Given the description of an element on the screen output the (x, y) to click on. 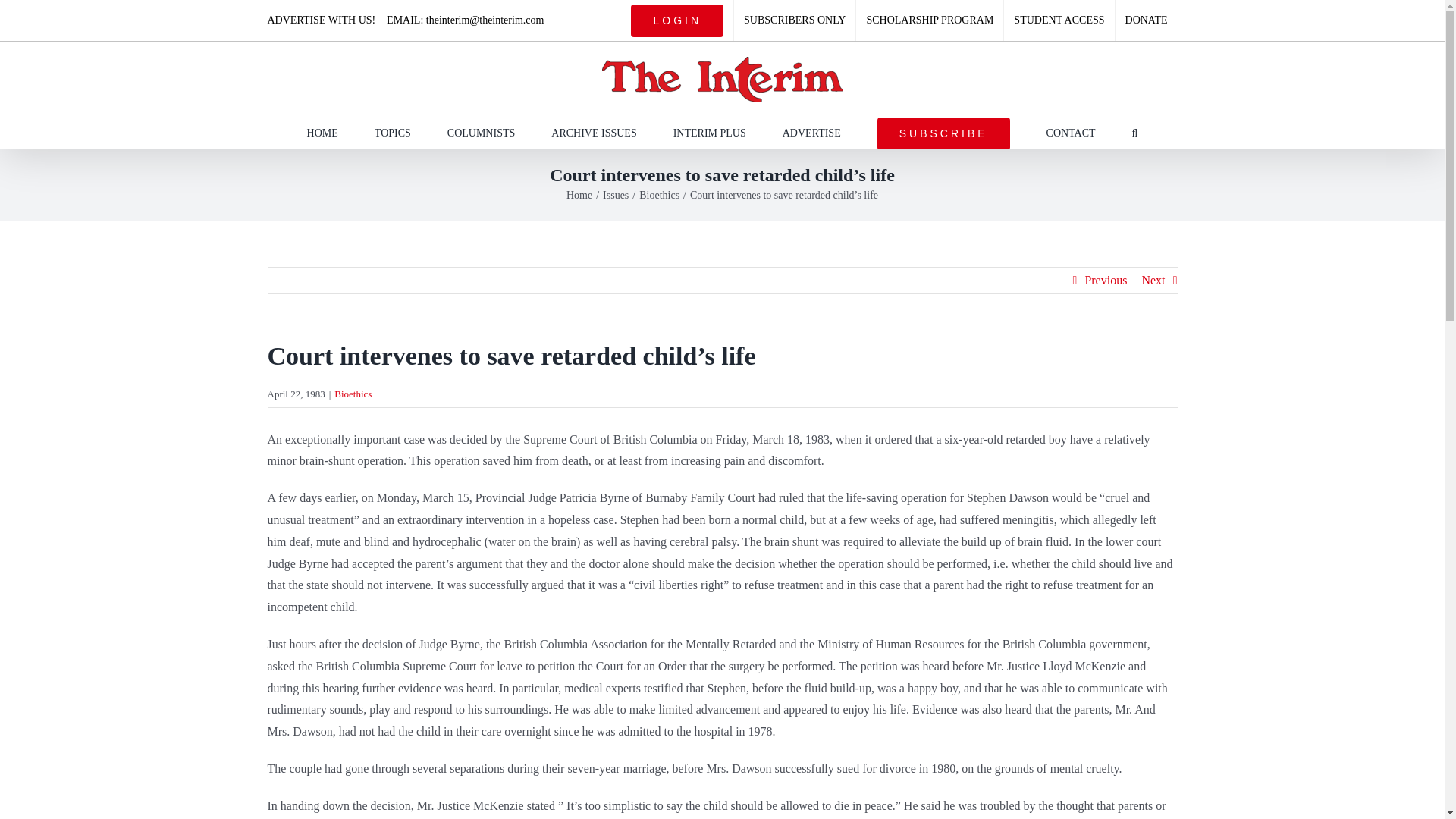
INTERIM PLUS (708, 132)
Home (579, 194)
TOPICS (392, 132)
SUBSCRIBERS ONLY (794, 20)
ADVERTISE (812, 132)
DONATE (1146, 20)
STUDENT ACCESS (1058, 20)
COLUMNISTS (480, 132)
Next (1152, 280)
SCHOLARSHIP PROGRAM (929, 20)
SUBSCRIBE (943, 132)
CONTACT (1071, 132)
Bioethics (659, 194)
ARCHIVE ISSUES (593, 132)
HOME (322, 132)
